Given the description of an element on the screen output the (x, y) to click on. 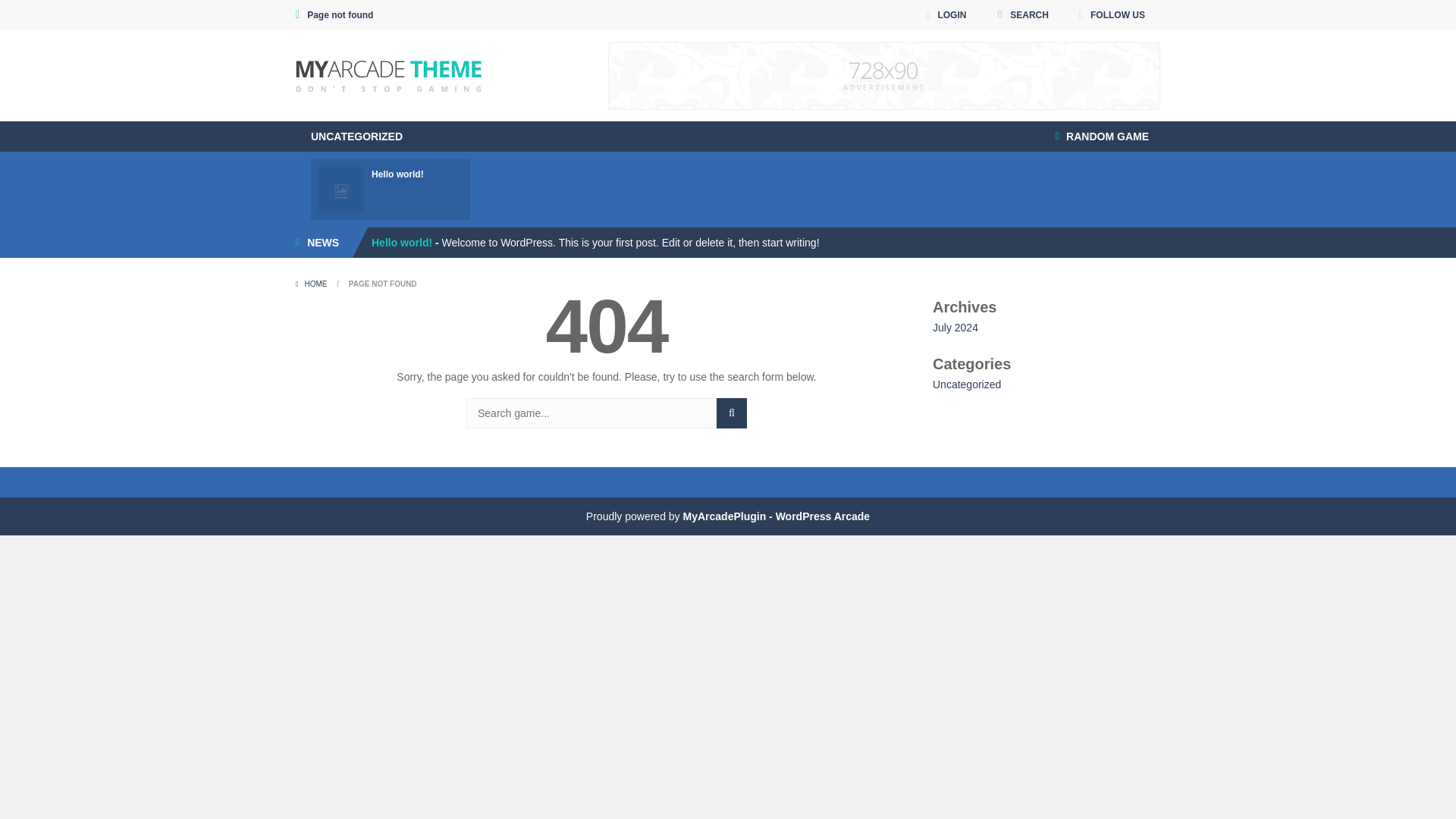
July 2024 (955, 327)
Hello world! (401, 242)
Uncategorized (967, 384)
Mgames (388, 74)
Play a random game! (1101, 136)
SEARCH (1022, 15)
Hello world! (401, 242)
Home (312, 284)
MyArcadePlugin - WordPress Arcade (775, 516)
RANDOM GAME (1101, 136)
